Given the description of an element on the screen output the (x, y) to click on. 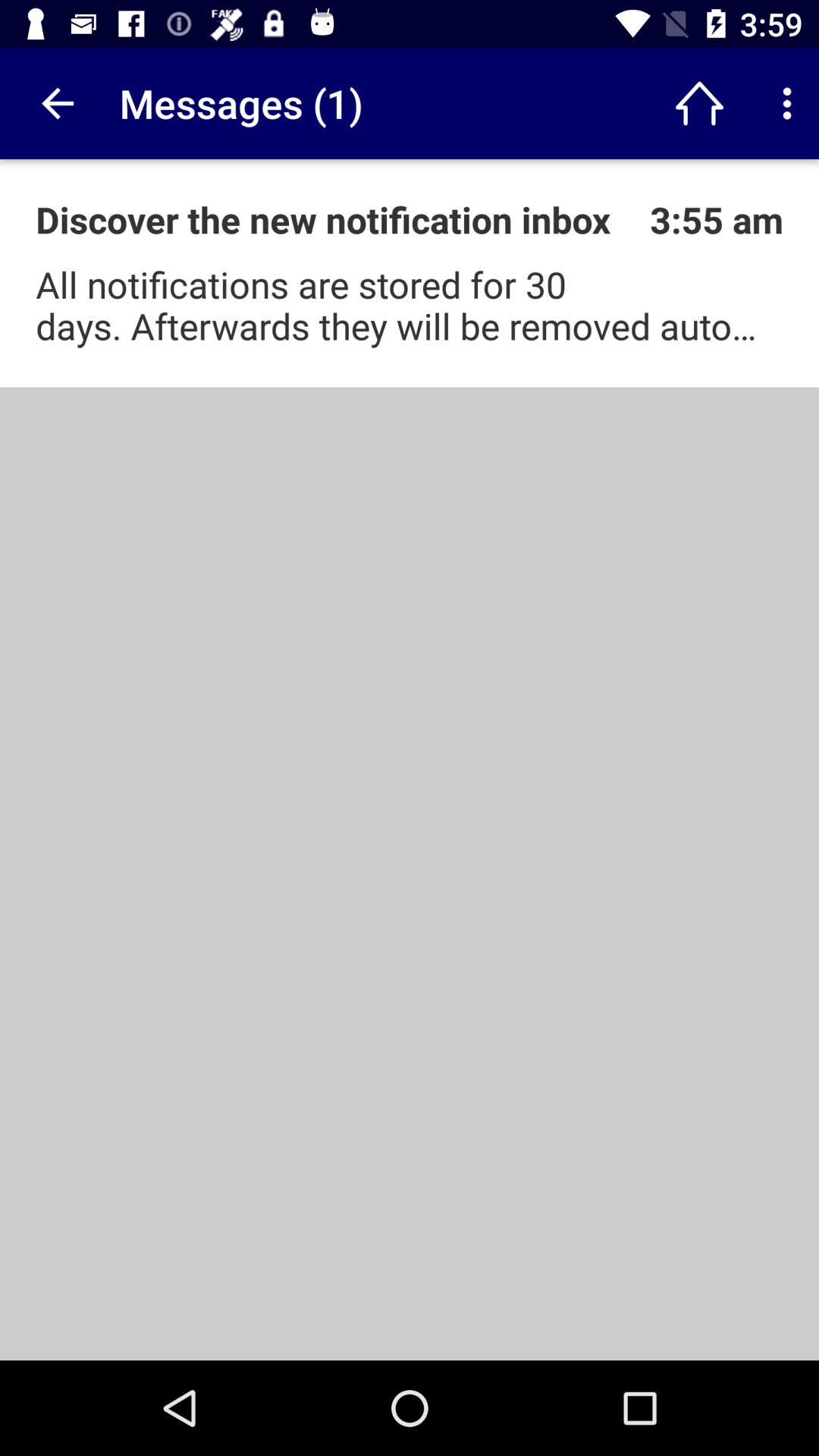
press icon above the 3:55 am (787, 103)
